Given the description of an element on the screen output the (x, y) to click on. 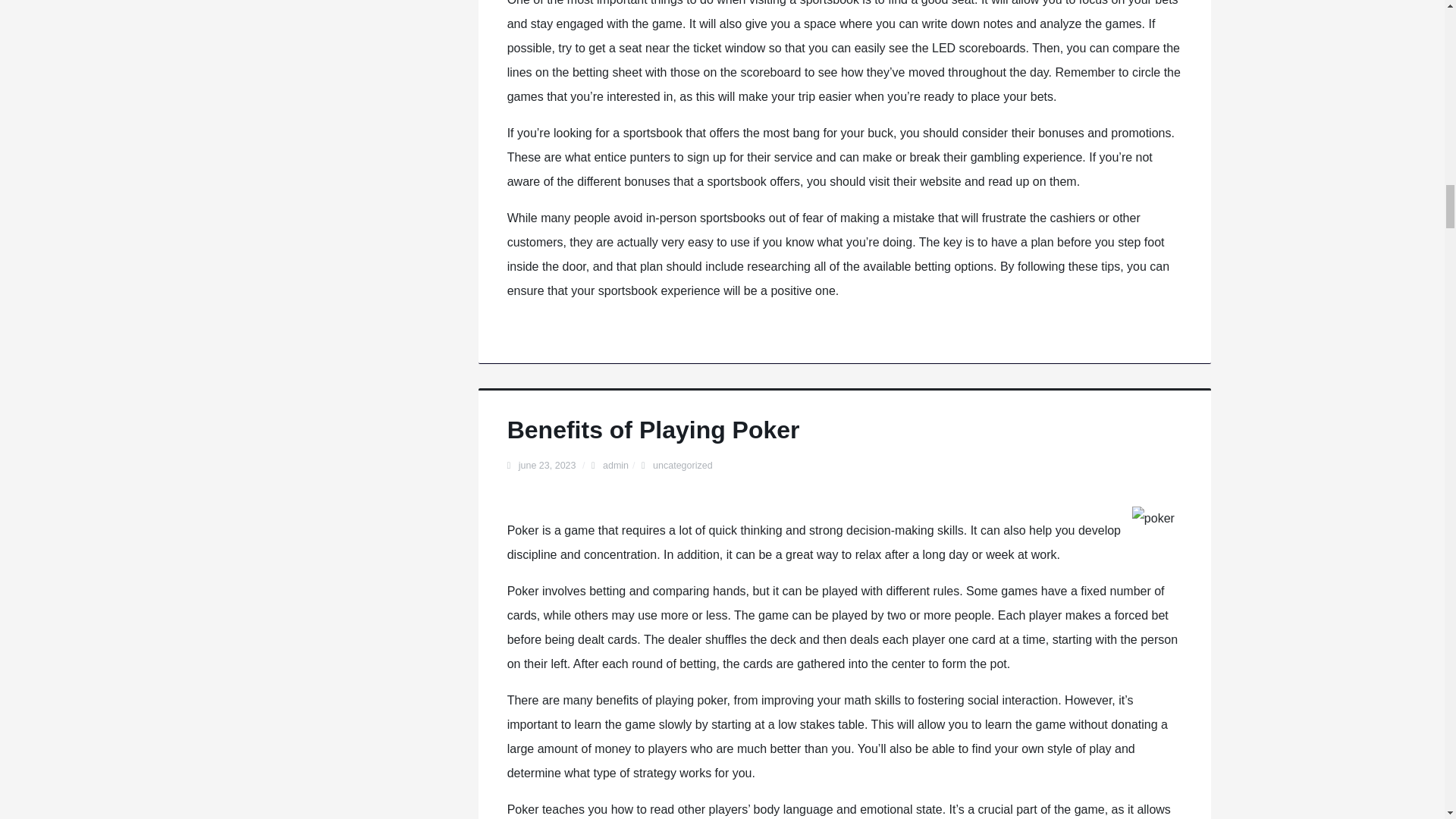
uncategorized (682, 465)
june 23, 2023 (548, 465)
Benefits of Playing Poker (652, 429)
admin (615, 465)
